Given the description of an element on the screen output the (x, y) to click on. 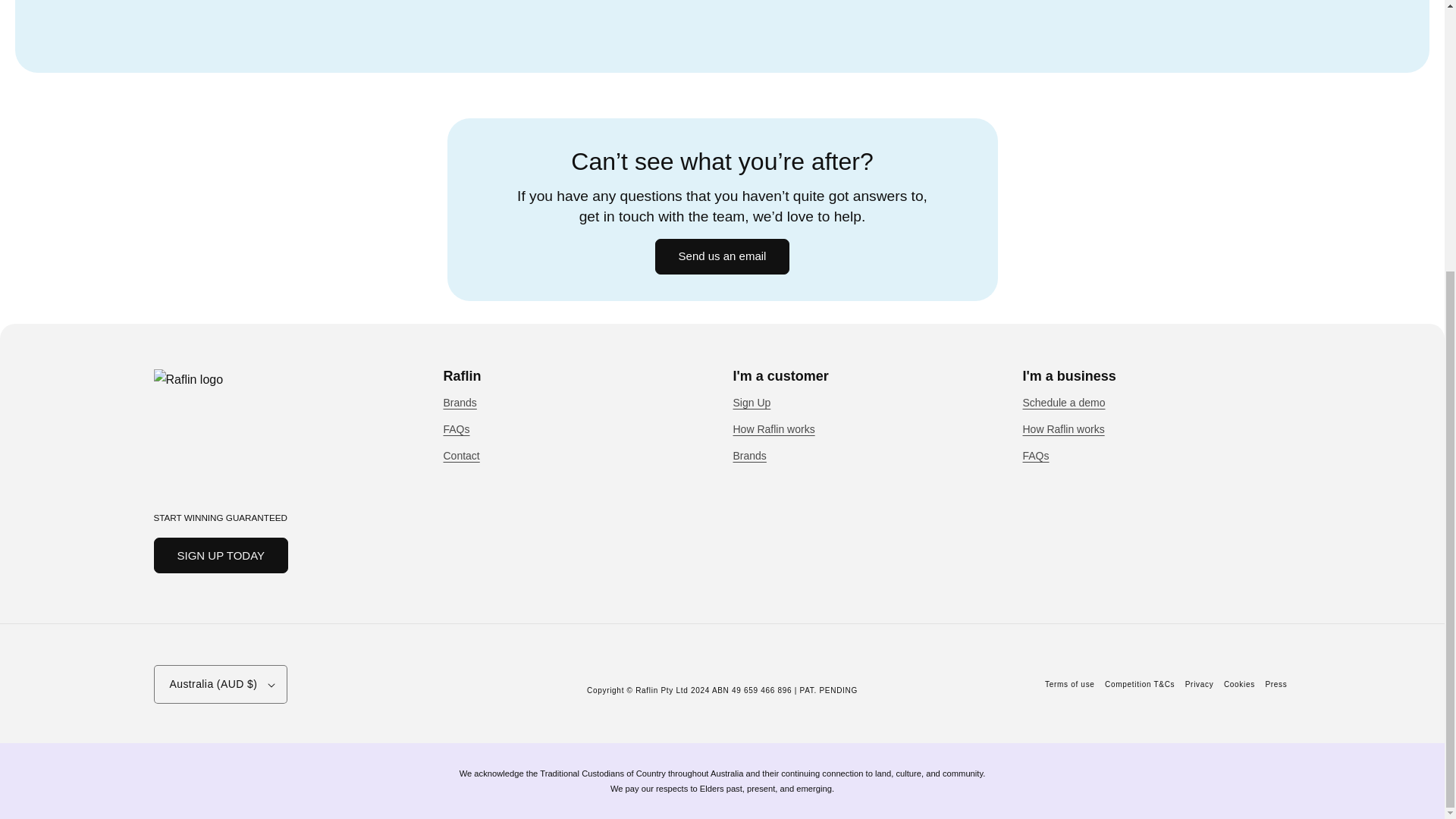
Schedule a demo (1063, 404)
Contact (460, 456)
How Raflin works (772, 429)
Sign Up (751, 404)
FAQs (1035, 456)
How Raflin works (1062, 429)
Brands (459, 404)
Send us an email (722, 256)
Brands (748, 456)
SIGN UP TODAY (220, 555)
FAQs (455, 429)
